Given the description of an element on the screen output the (x, y) to click on. 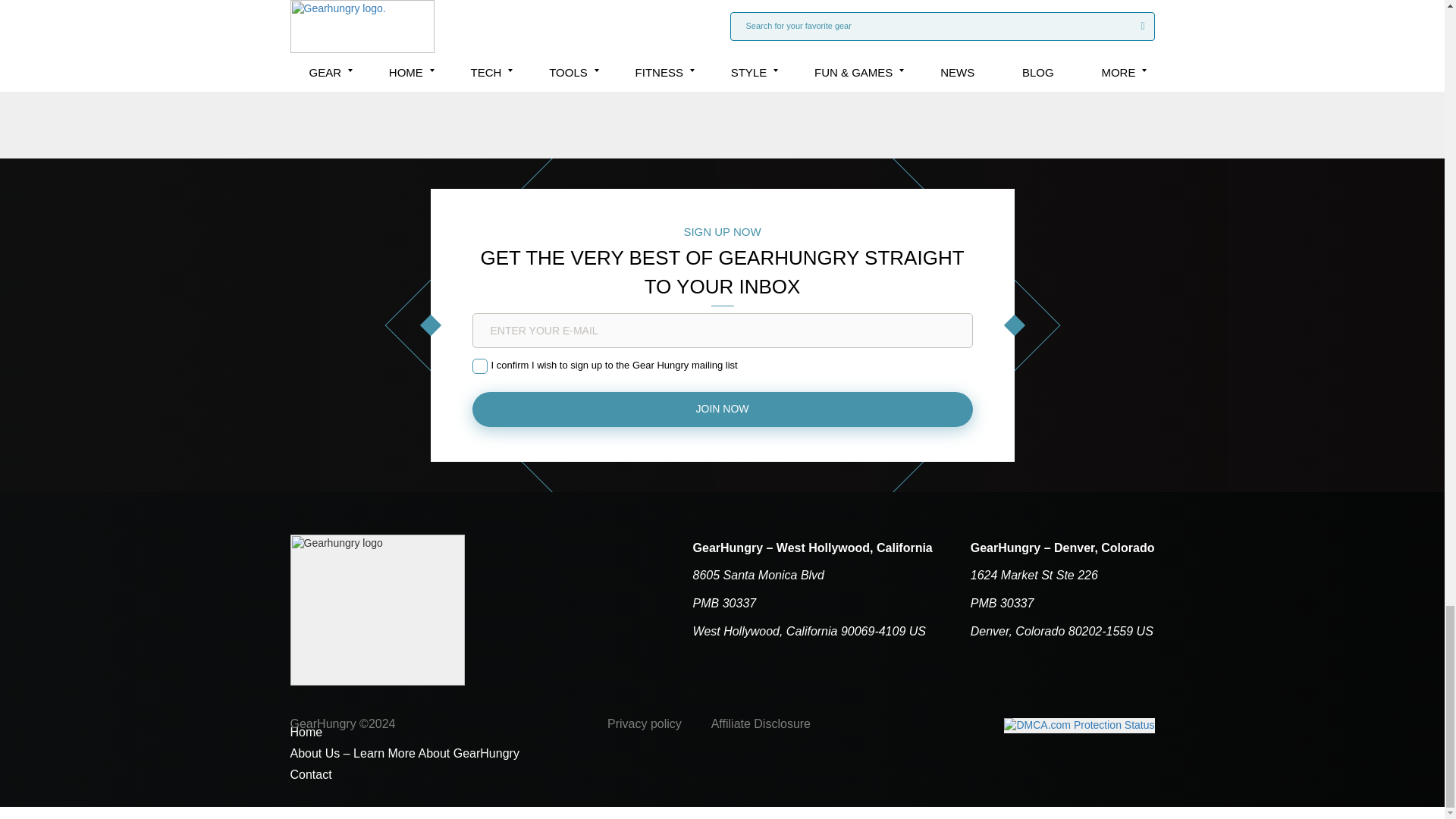
DMCA.com Protection Status (1079, 725)
